Given the description of an element on the screen output the (x, y) to click on. 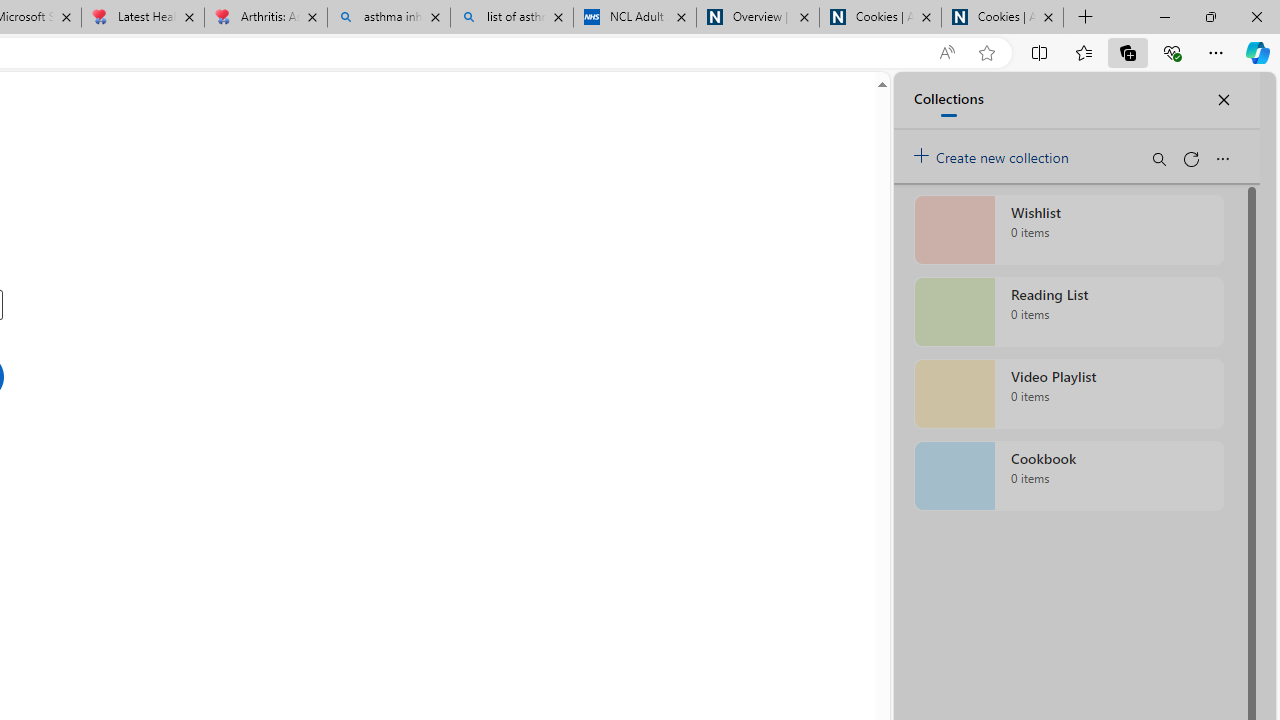
Cookies | About | NICE (1002, 17)
